Given the description of an element on the screen output the (x, y) to click on. 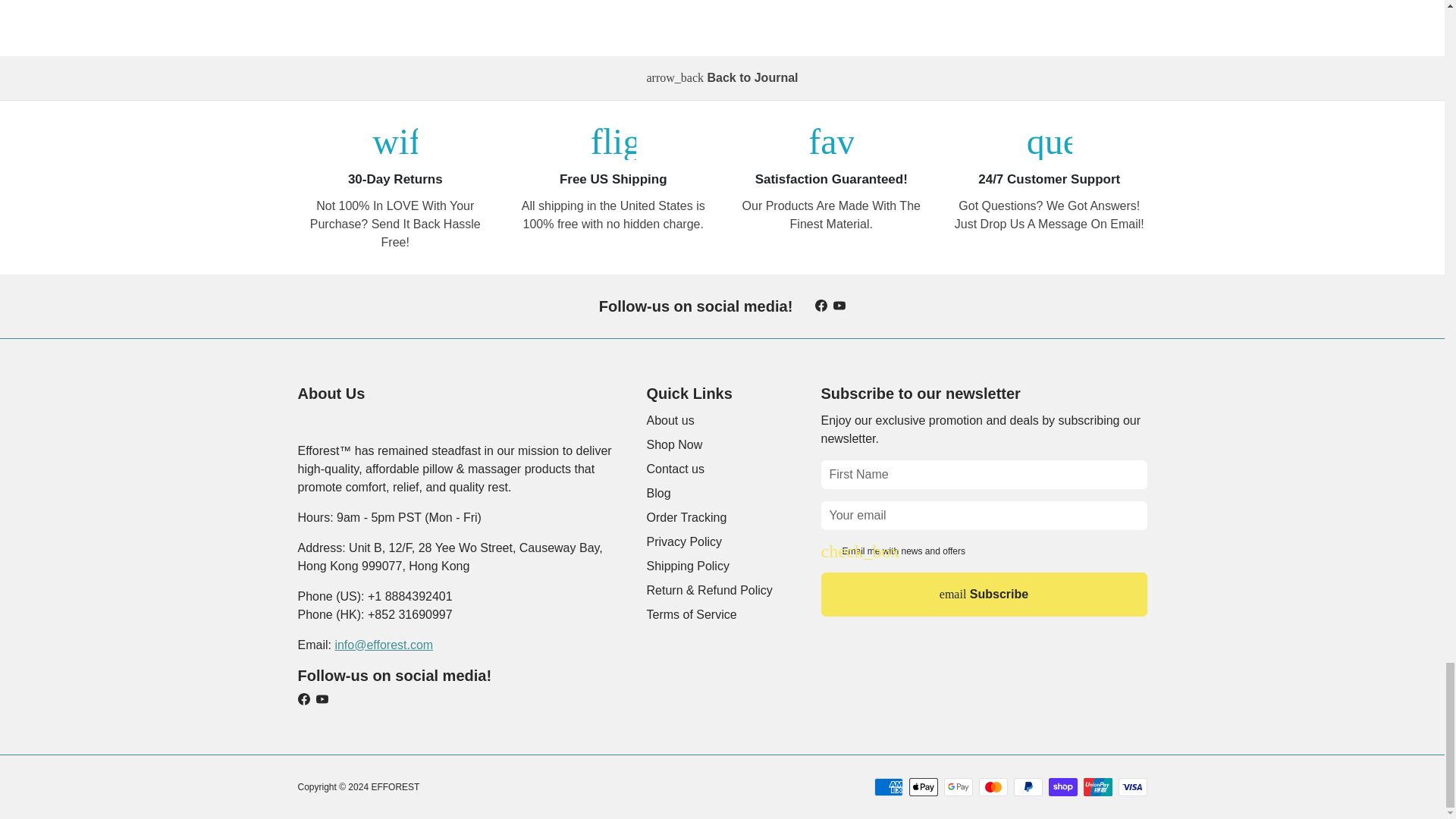
PayPal (1027, 787)
Mastercard (992, 787)
American Express (887, 787)
EFFOREST on Facebook (821, 305)
Union Pay (1097, 787)
Visa (1132, 787)
Apple Pay (922, 787)
Google Pay (957, 787)
Shop Pay (1062, 787)
